Given the description of an element on the screen output the (x, y) to click on. 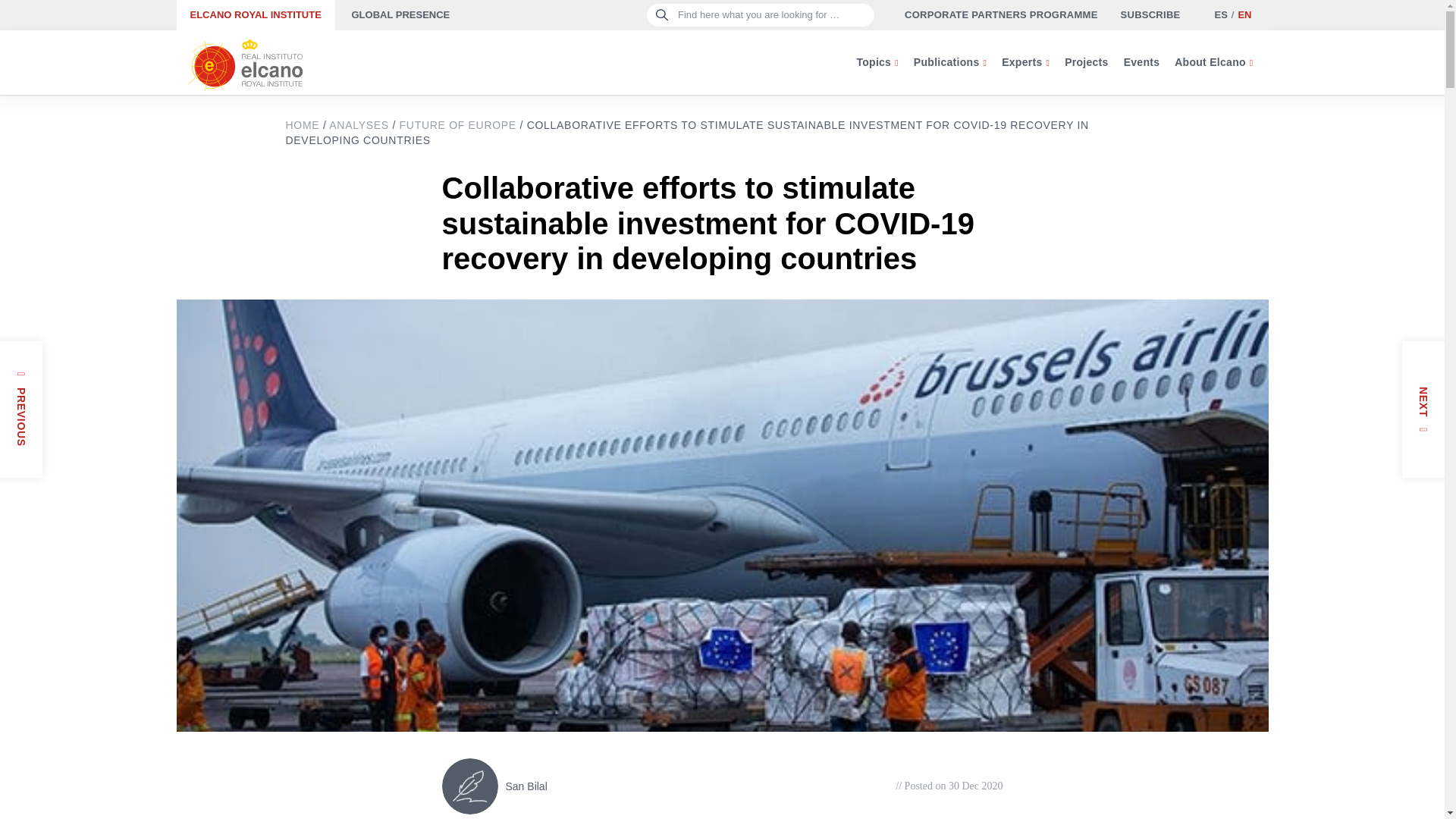
Publications (949, 61)
SUBSCRIBE (1150, 15)
Experts (1025, 61)
Posted on 30 Dec 2020 (949, 786)
Search (39, 18)
CORPORATE PARTNERS PROGRAMME (1000, 15)
EN (1244, 14)
Projects (1086, 61)
GLOBAL PRESENCE (400, 15)
ES (1219, 14)
